Given the description of an element on the screen output the (x, y) to click on. 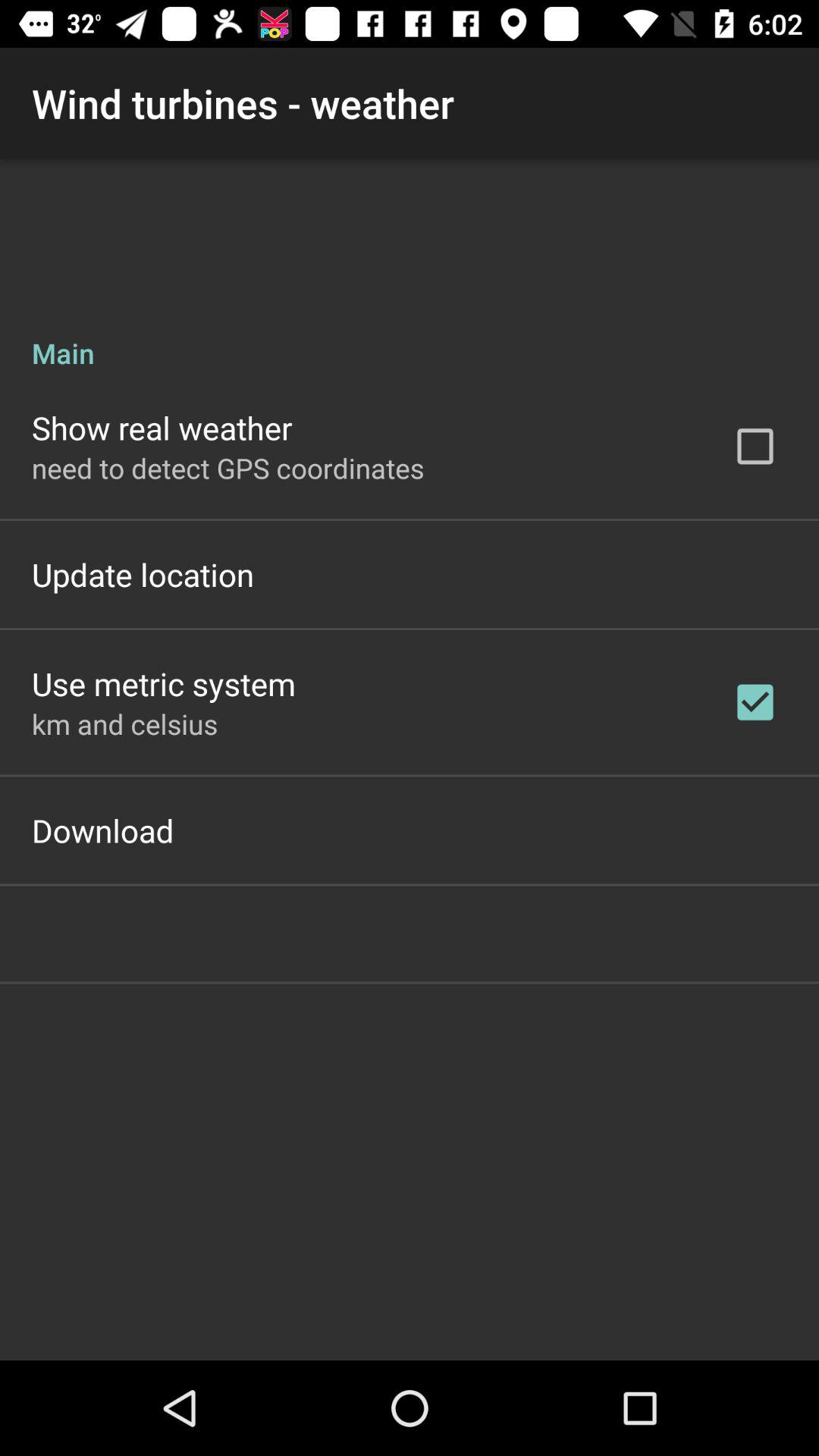
scroll to main icon (409, 336)
